Given the description of an element on the screen output the (x, y) to click on. 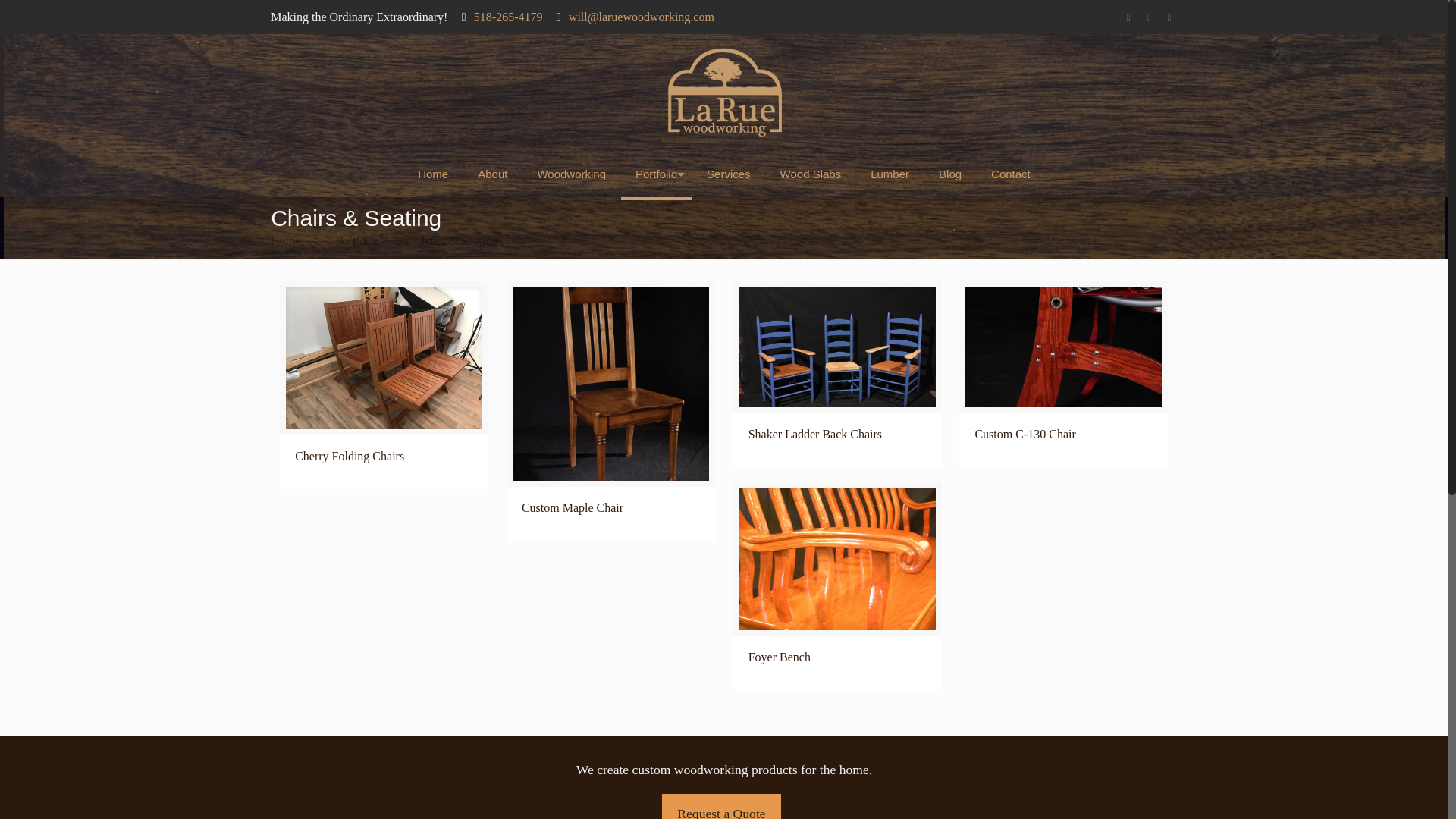
About (492, 174)
518-265-4179 (508, 16)
Home (433, 174)
Facebook (1129, 17)
LinkedIn (1169, 17)
LaRue Woodworking (723, 92)
Portfolio (657, 174)
Woodworking (571, 174)
Twitter (1149, 17)
